Given the description of an element on the screen output the (x, y) to click on. 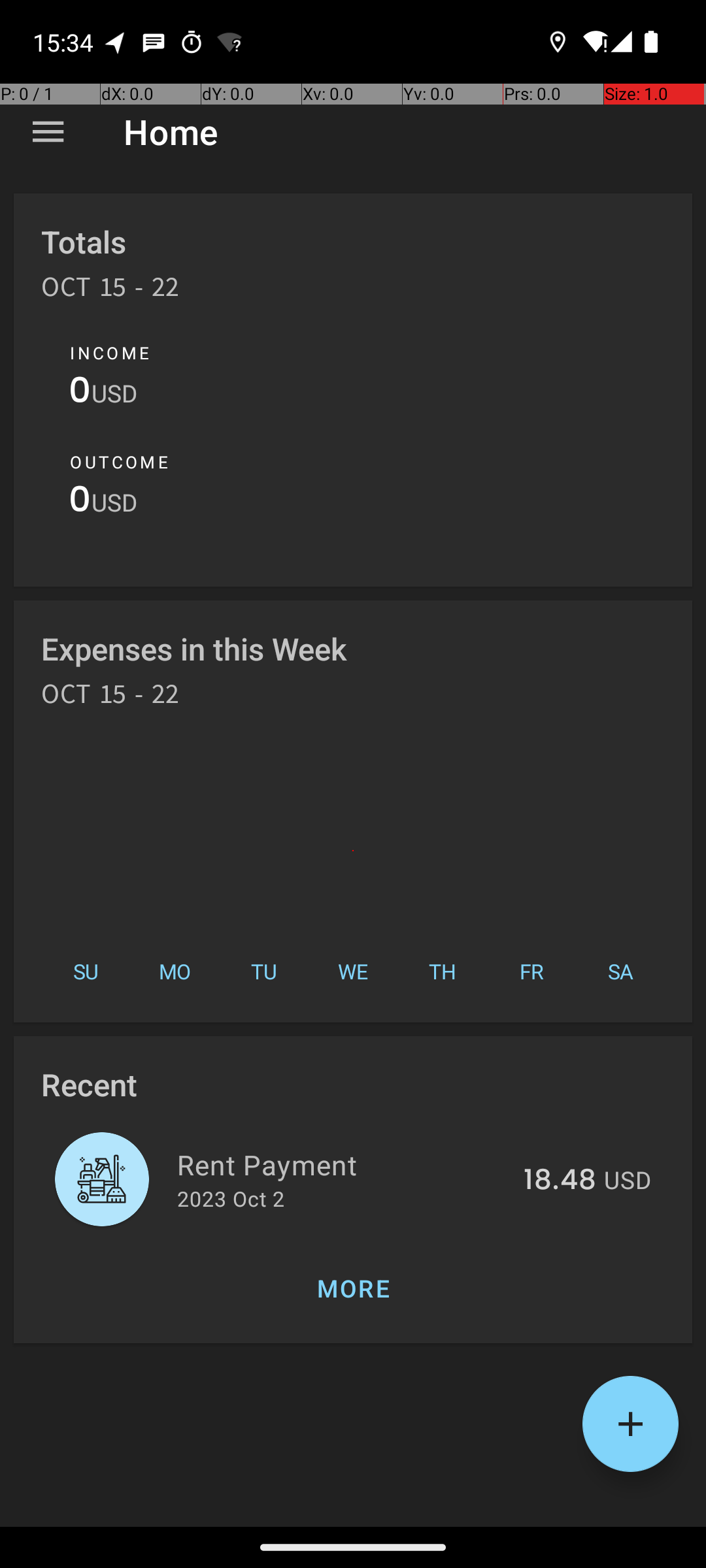
18.48 Element type: android.widget.TextView (559, 1180)
